Given the description of an element on the screen output the (x, y) to click on. 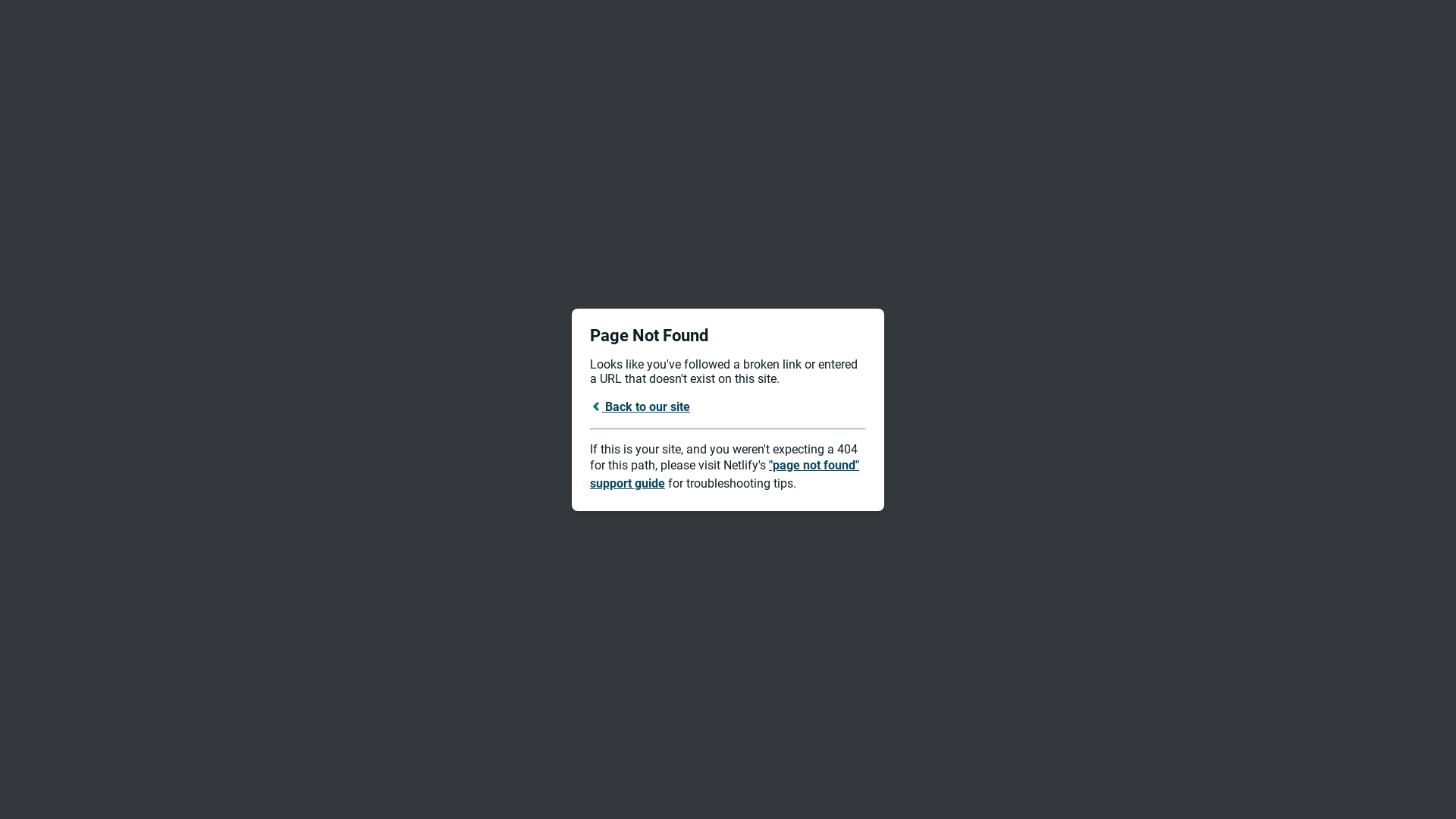
Back to our site Element type: text (639, 405)
"page not found" support guide Element type: text (724, 474)
